Given the description of an element on the screen output the (x, y) to click on. 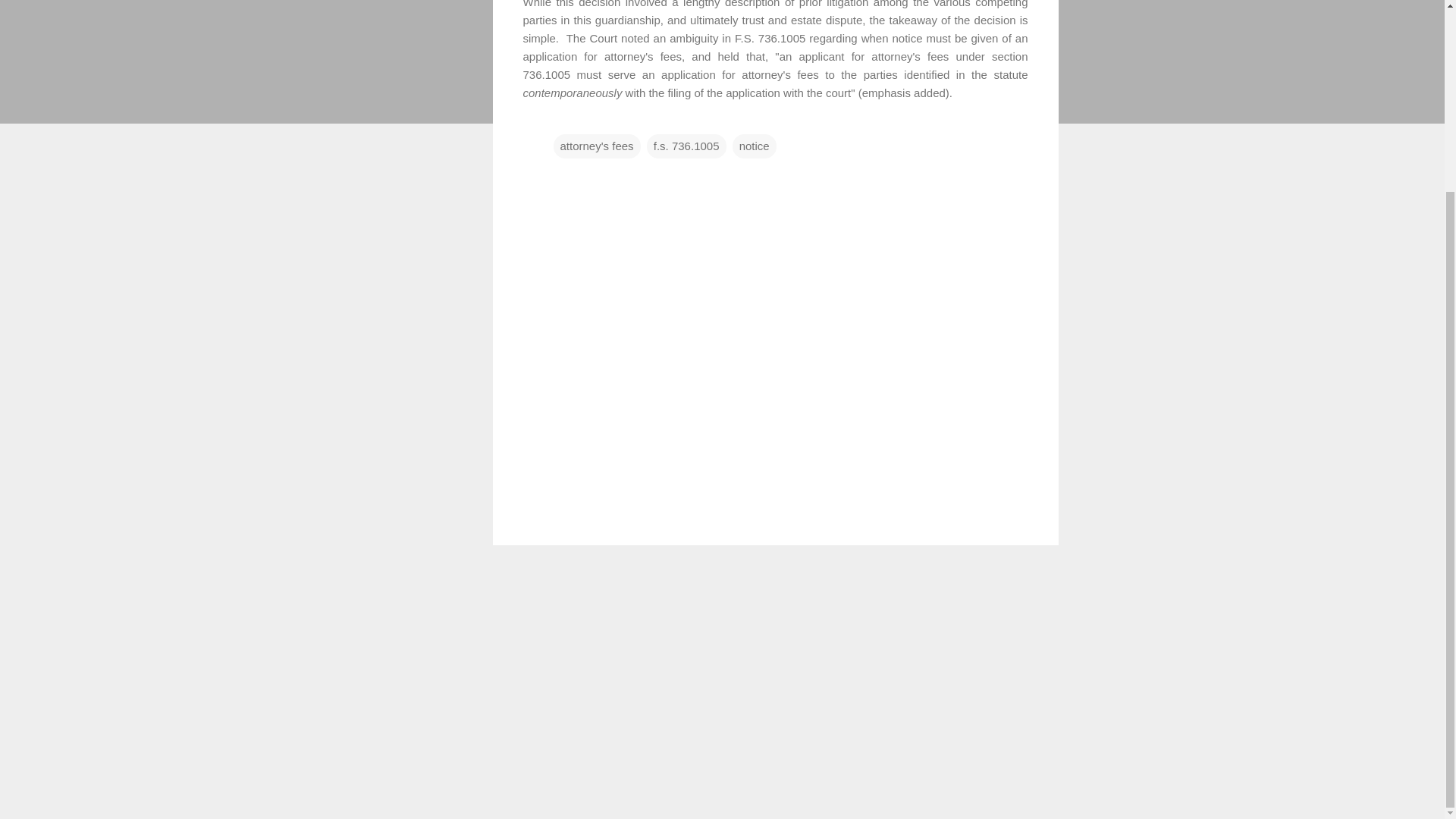
f.s. 736.1005 (686, 146)
attorney's fees (596, 146)
notice (754, 146)
